Given the description of an element on the screen output the (x, y) to click on. 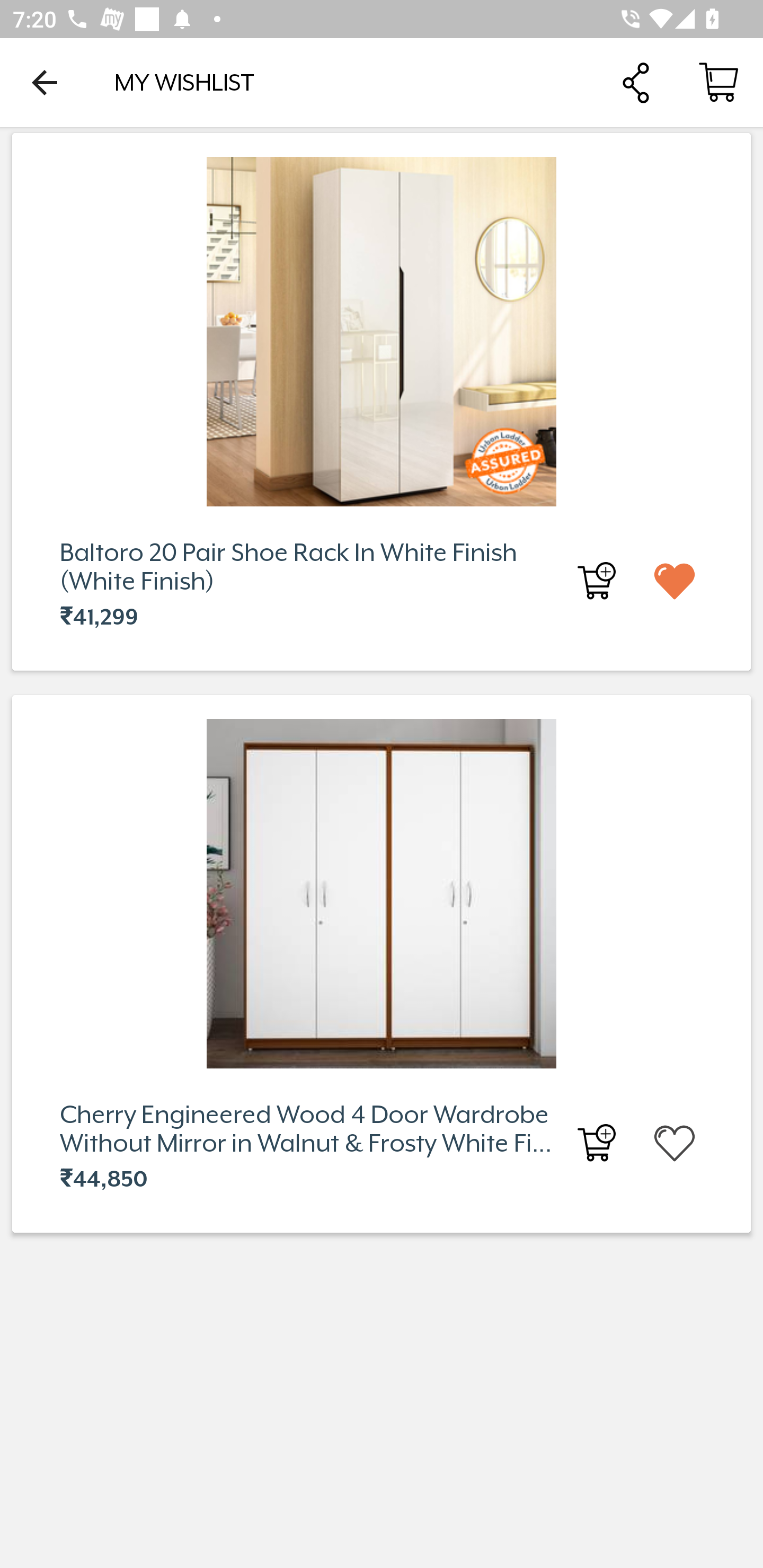
Navigate up (44, 82)
Share Wishlist (635, 81)
Cart (718, 81)
 (690, 579)
 (690, 1141)
